Given the description of an element on the screen output the (x, y) to click on. 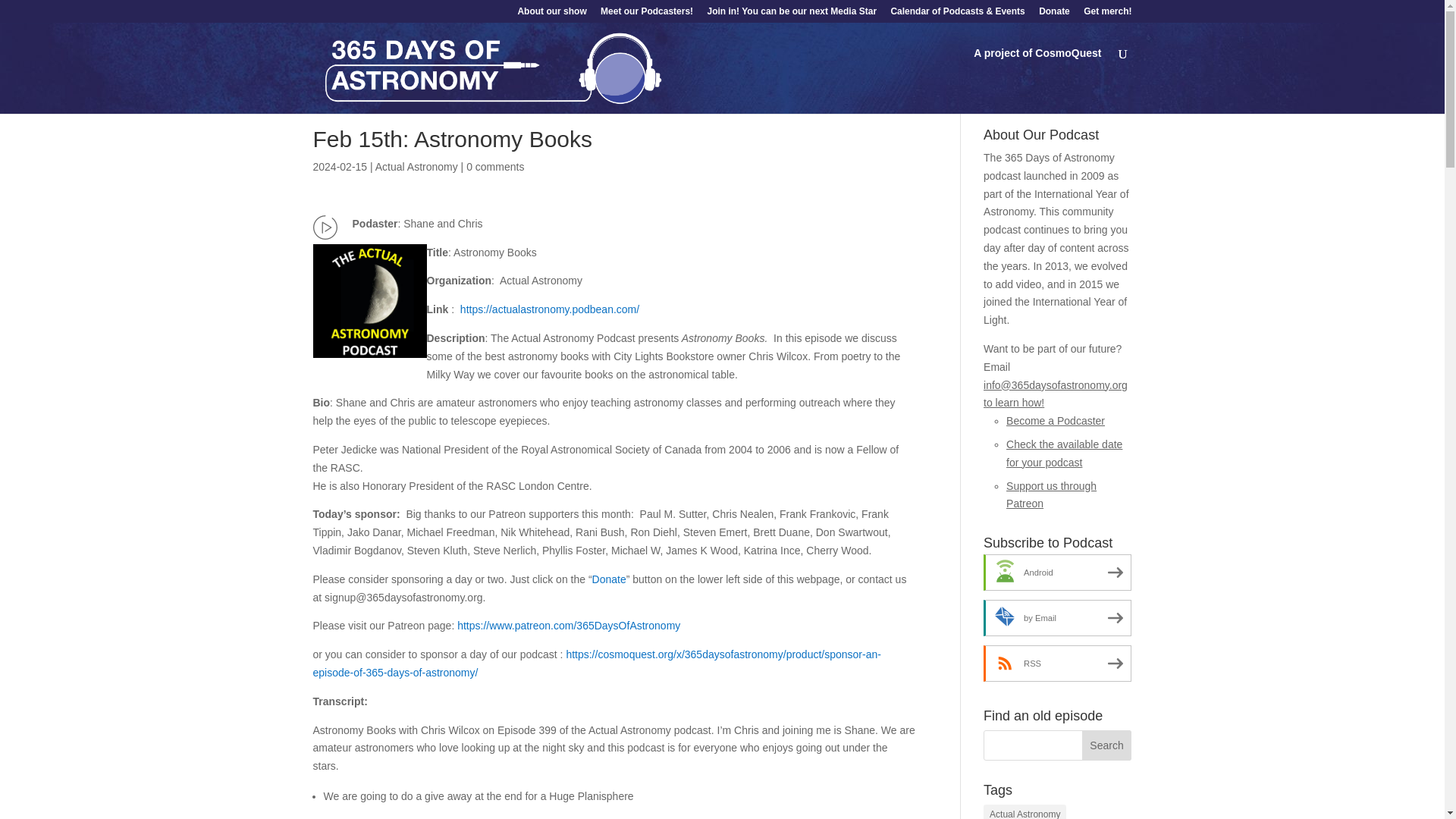
Actual Astronomy (416, 166)
Subscribe on Android (1057, 572)
Subscribe via RSS (1057, 663)
Search (1106, 745)
Get merch! (1107, 14)
Support us through Patreon (1051, 494)
Search (1106, 745)
Donate (1054, 14)
Become a Podcaster (1055, 420)
About our show (551, 14)
